Given the description of an element on the screen output the (x, y) to click on. 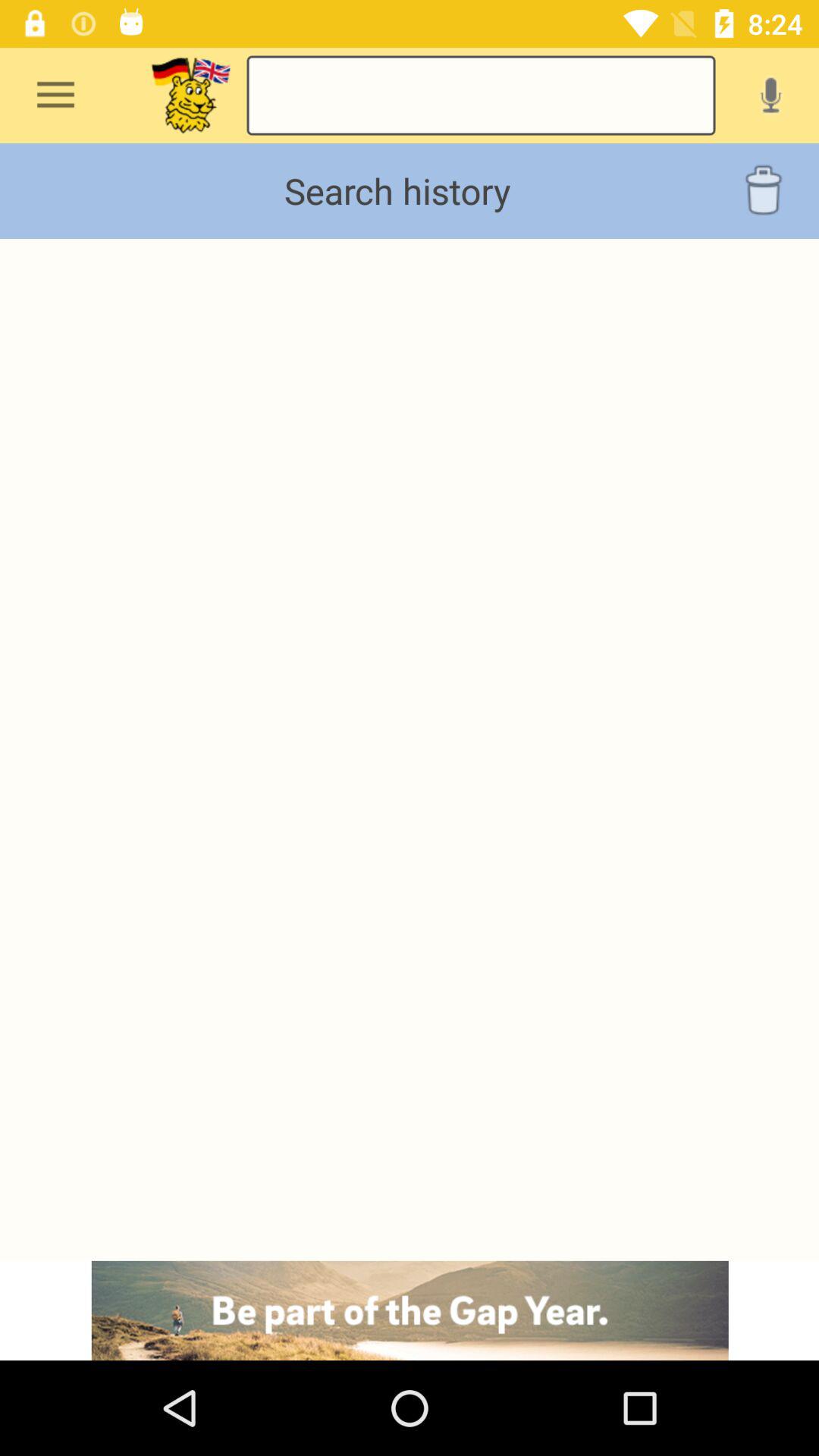
delete the history (763, 190)
